Given the description of an element on the screen output the (x, y) to click on. 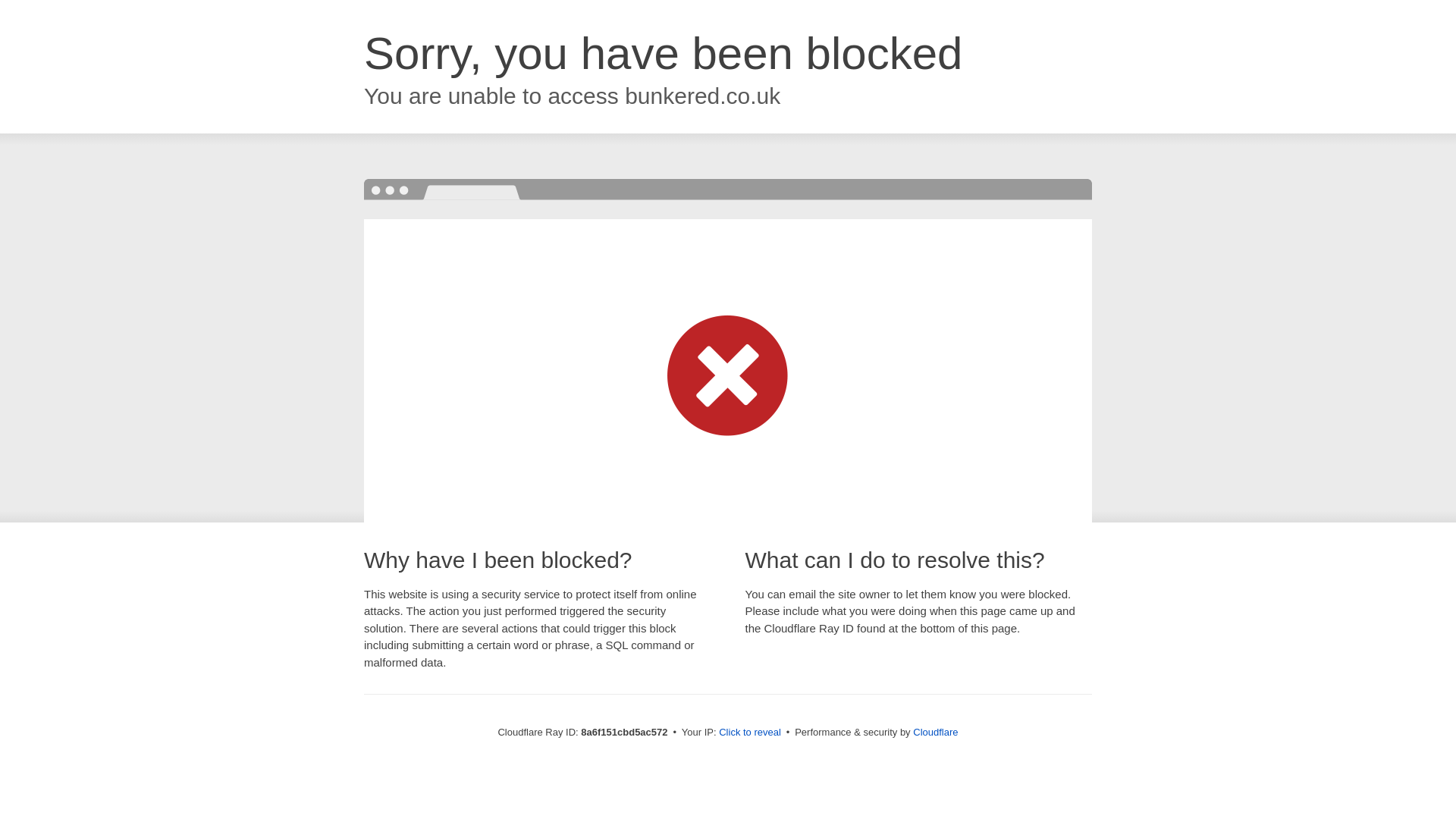
Click to reveal (749, 732)
Cloudflare (935, 731)
